Given the description of an element on the screen output the (x, y) to click on. 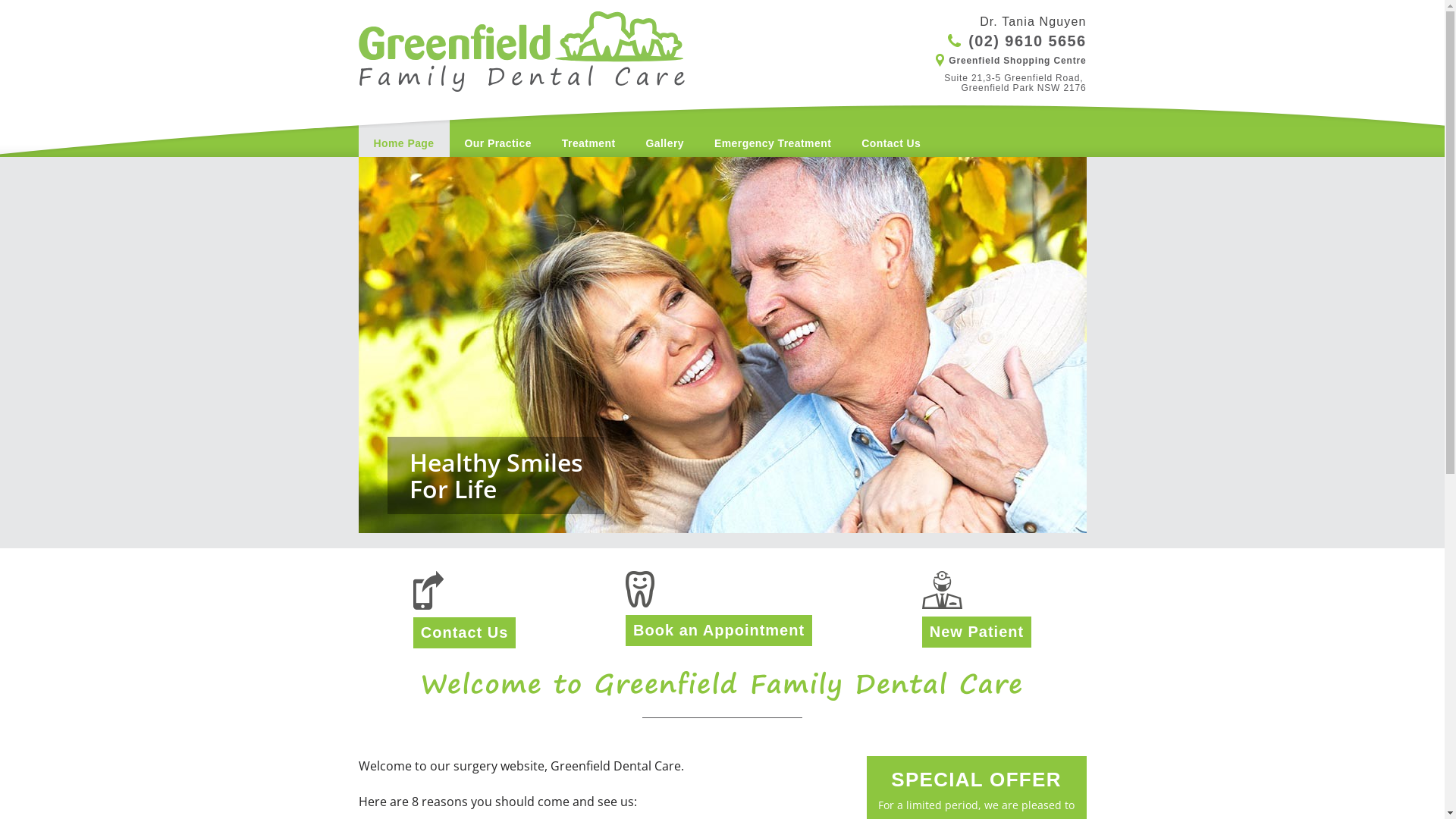
New Patient Element type: text (976, 631)
Emergency Treatment Element type: text (772, 128)
Contact Us Element type: text (890, 128)
Book an Appointment Element type: text (718, 629)
Home Page Element type: text (402, 128)
Contact Us Element type: hover (464, 590)
Treatment Element type: text (588, 128)
Contact Us Element type: text (464, 632)
Book an Appointment Element type: hover (718, 589)
Our Practice Element type: text (497, 128)
Gallery Element type: text (664, 128)
Greenfield Family Dental Care Element type: text (520, 64)
New Patient Element type: hover (976, 589)
